Given the description of an element on the screen output the (x, y) to click on. 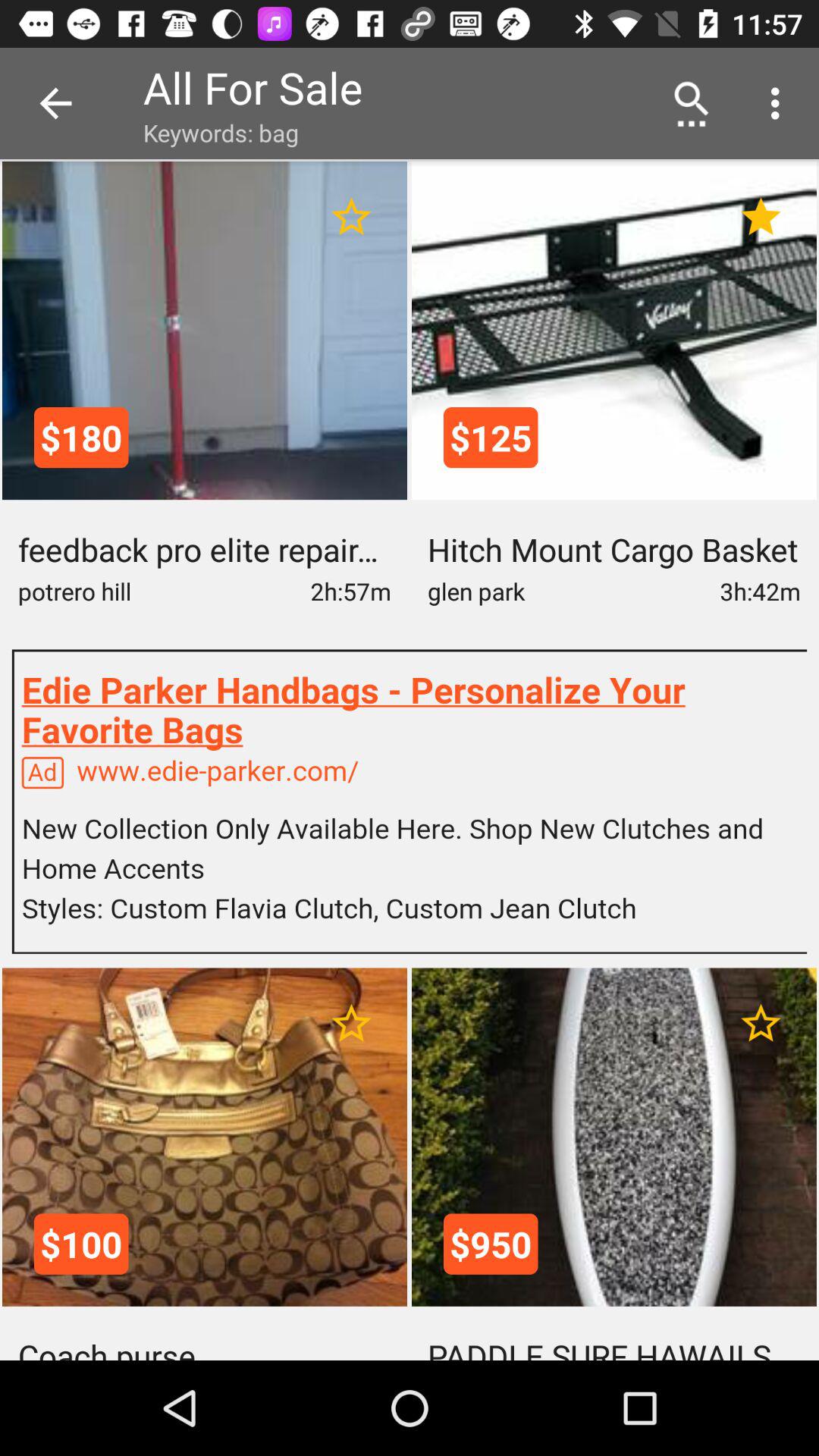
select the rating (351, 1023)
